Given the description of an element on the screen output the (x, y) to click on. 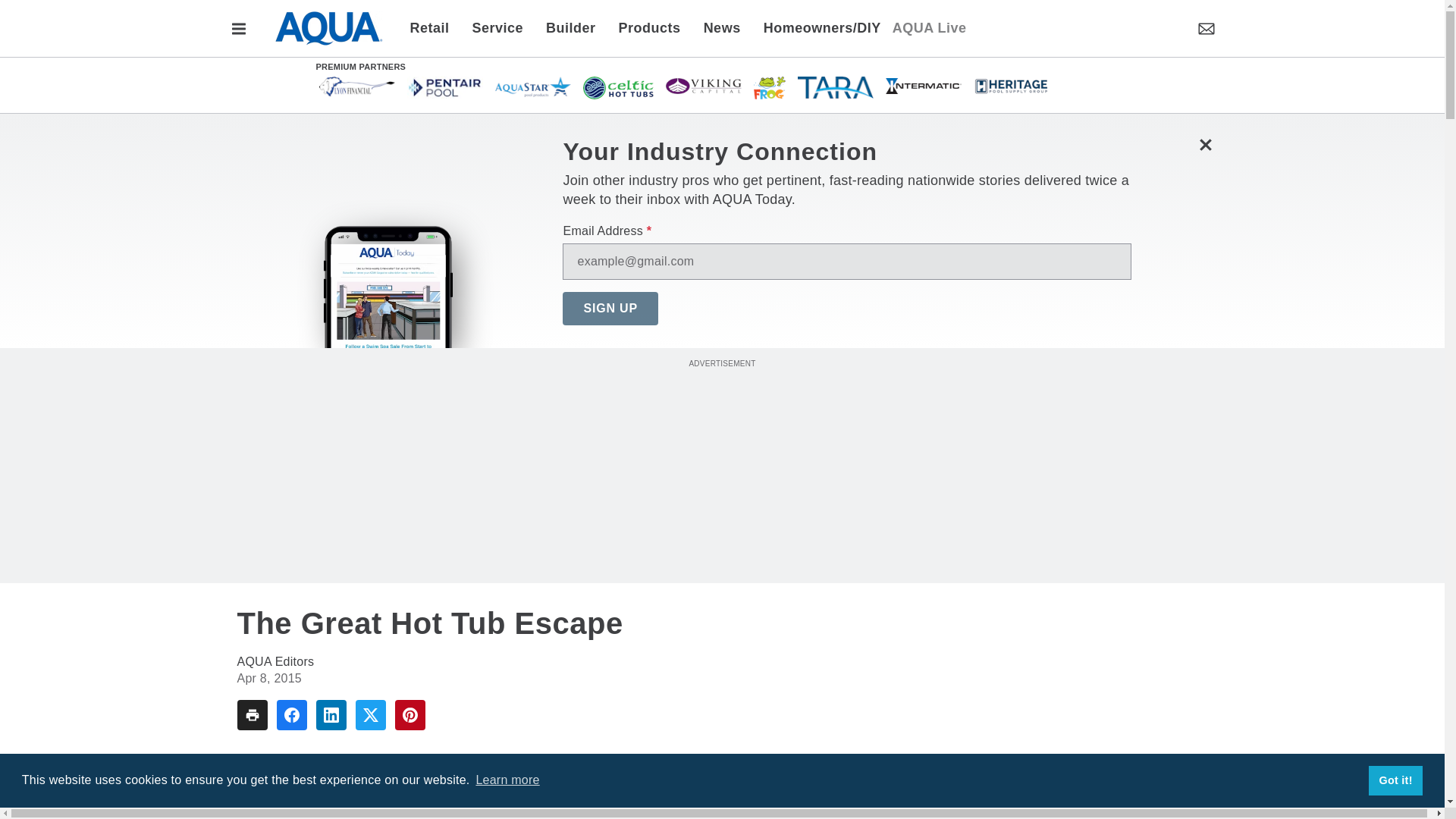
AquaStar (532, 86)
Retail (434, 27)
Pentair (443, 86)
AQUA Live (929, 27)
Products (650, 27)
Builder (570, 27)
Service (498, 27)
News (722, 27)
Got it! (1395, 780)
Lyon Financial (356, 86)
Learn more (507, 780)
